Given the description of an element on the screen output the (x, y) to click on. 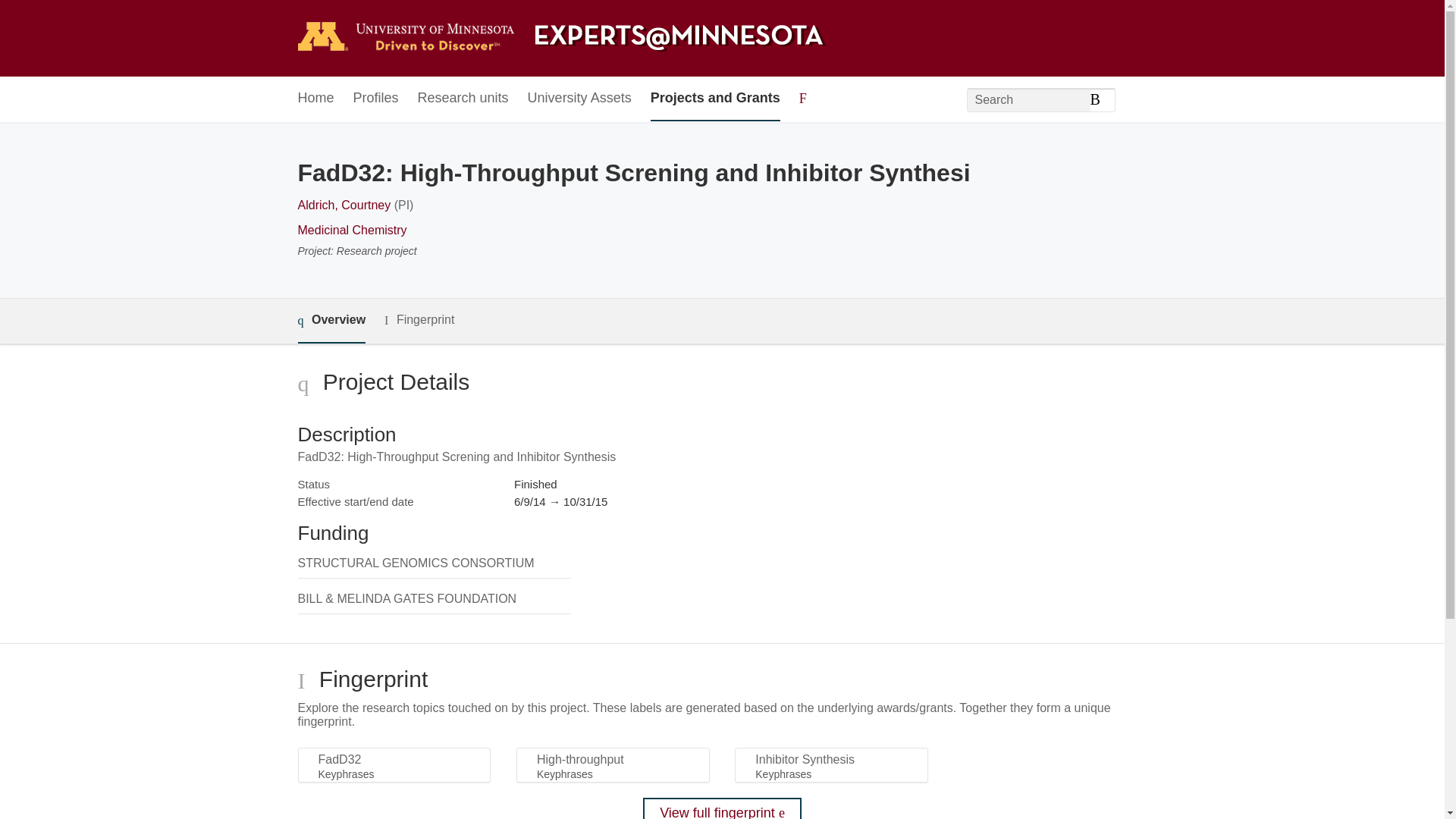
Overview (331, 320)
Fingerprint (419, 320)
Medicinal Chemistry (351, 229)
Aldrich, Courtney (343, 205)
Research units (462, 98)
University Assets (579, 98)
View full fingerprint (722, 808)
Projects and Grants (715, 98)
Home (315, 98)
Profiles (375, 98)
